Given the description of an element on the screen output the (x, y) to click on. 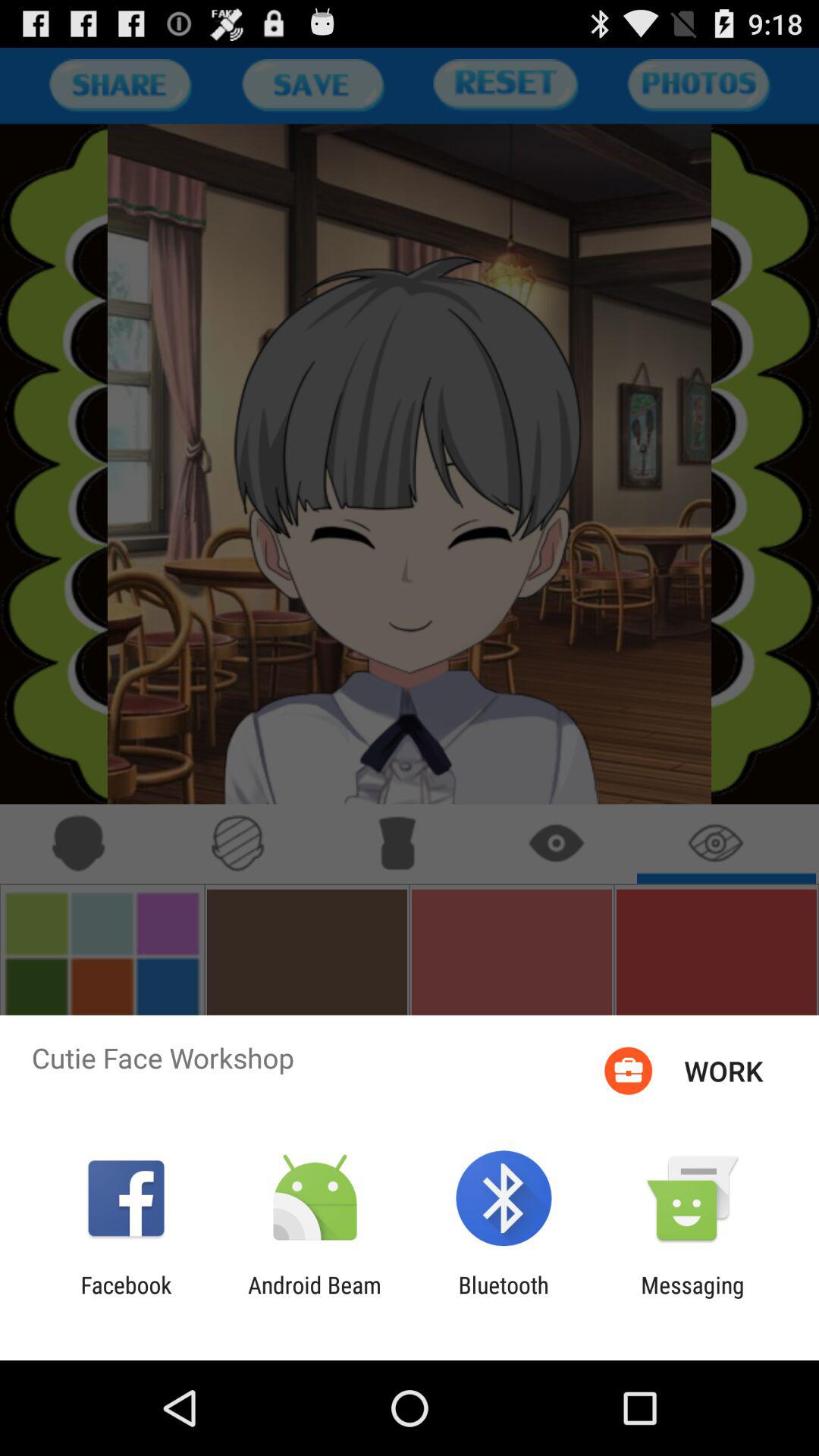
turn off icon next to the facebook item (314, 1298)
